Given the description of an element on the screen output the (x, y) to click on. 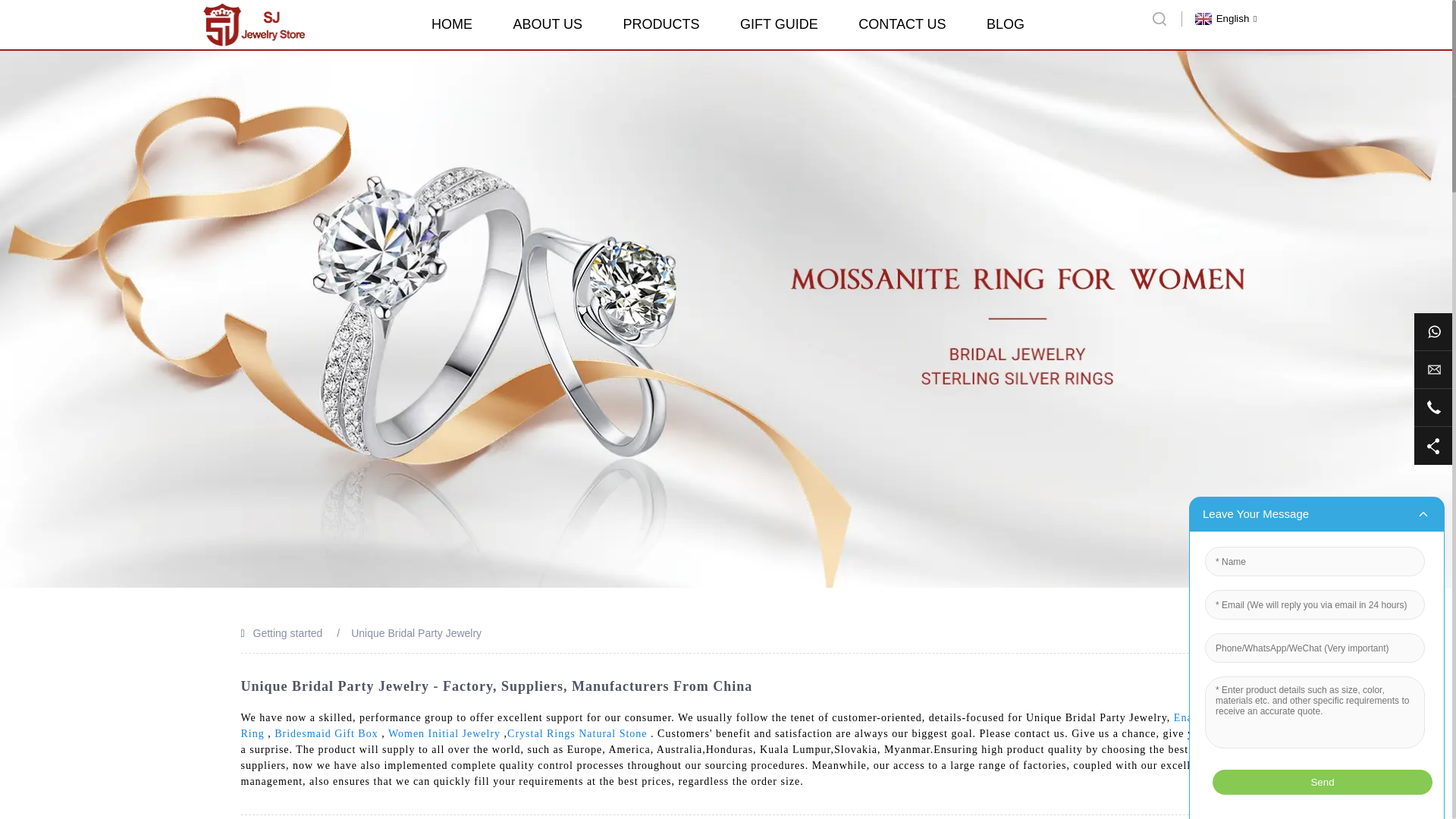
Enamel Ring (726, 725)
PRODUCTS (661, 23)
BLOG (1006, 23)
HOME (450, 23)
Bridesmaid Gift Box (326, 733)
CONTACT US (901, 23)
Bridesmaid Gift Box (326, 733)
Women Initial Jewelry (444, 733)
Enamel Ring (726, 725)
Women Initial Jewelry (444, 733)
Unique Bridal Party Jewelry (415, 633)
Crystal Rings Natural Stone (576, 733)
English (1224, 18)
GIFT GUIDE (778, 23)
Getting started (288, 633)
